Given the description of an element on the screen output the (x, y) to click on. 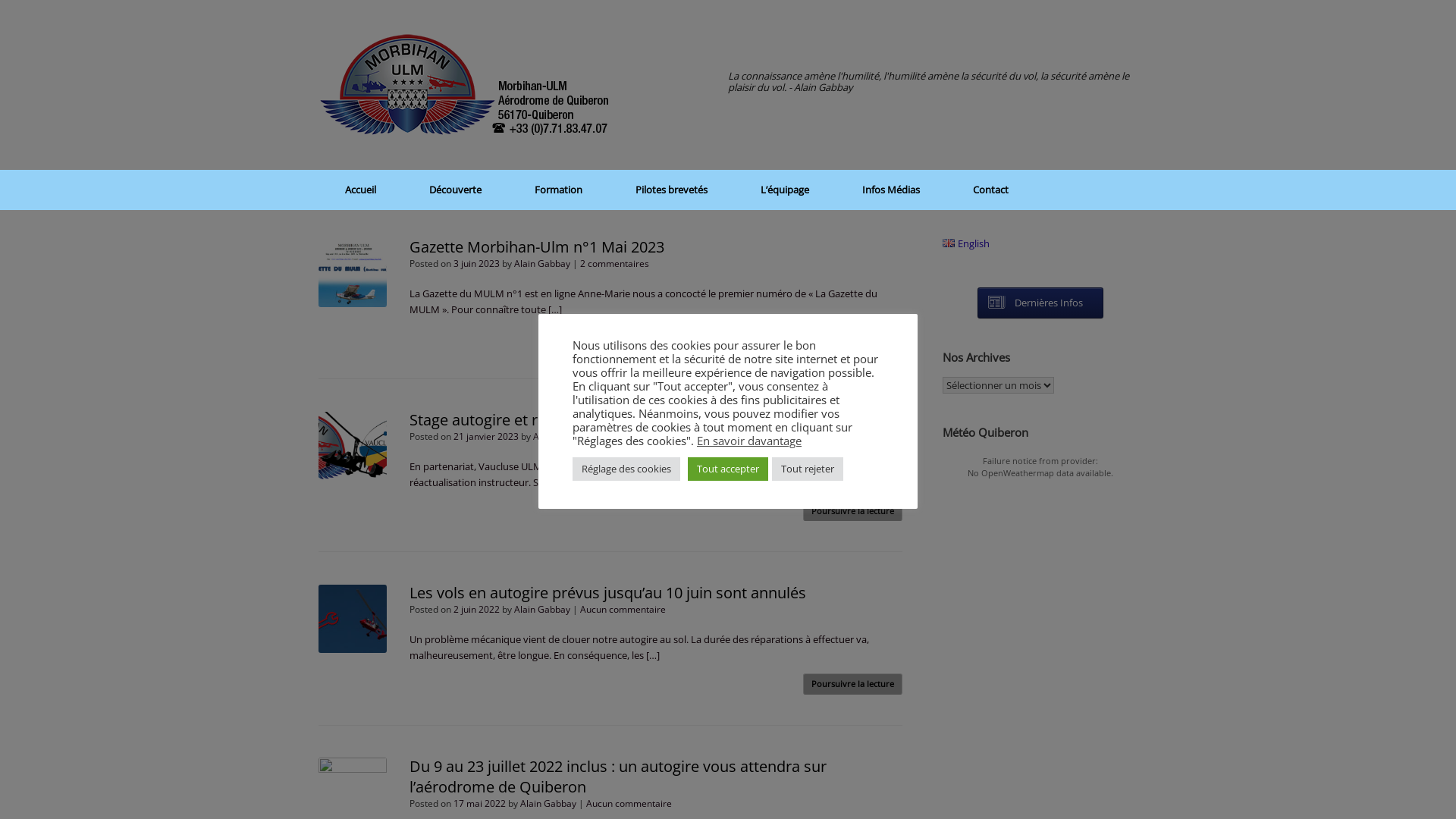
2 commentaires Element type: text (614, 263)
En savoir davantage Element type: text (748, 440)
Alain Gabbay Element type: text (542, 263)
3 juin 2023 Element type: text (476, 263)
Poursuivre la lecture Element type: text (852, 337)
Aucun commentaire Element type: text (641, 435)
17 mai 2022 Element type: text (479, 803)
Formation Element type: text (558, 189)
Aucun commentaire Element type: text (622, 608)
21 janvier 2023 Element type: text (485, 435)
Accueil Element type: text (360, 189)
Poursuivre la lecture Element type: text (852, 510)
Alain Gabbay Element type: text (542, 608)
Contact Element type: text (990, 189)
Tout rejeter Element type: text (807, 468)
Alain Gabbay Element type: text (561, 435)
English Element type: text (965, 243)
2 juin 2022 Element type: text (476, 608)
Tout accepter Element type: text (727, 468)
Alain Gabbay Element type: text (548, 803)
Poursuivre la lecture Element type: text (852, 683)
Aucun commentaire Element type: text (628, 803)
